Given the description of an element on the screen output the (x, y) to click on. 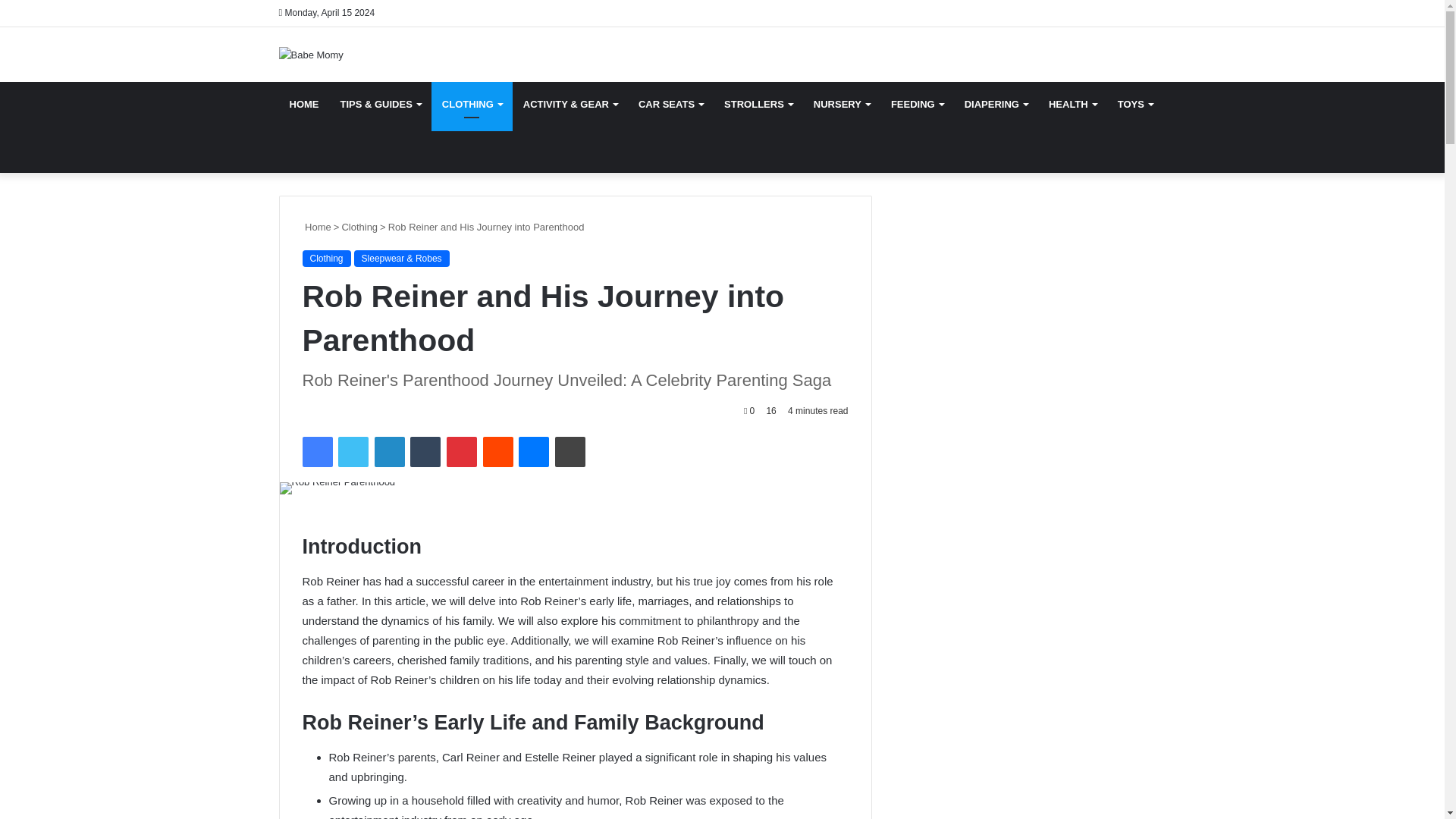
Twitter (352, 451)
LinkedIn (389, 451)
Pinterest (461, 451)
Messenger (533, 451)
Tumblr (425, 451)
CLOTHING (471, 104)
Reddit (498, 451)
Facebook (316, 451)
HOME (304, 104)
Babe Momy (311, 54)
